Given the description of an element on the screen output the (x, y) to click on. 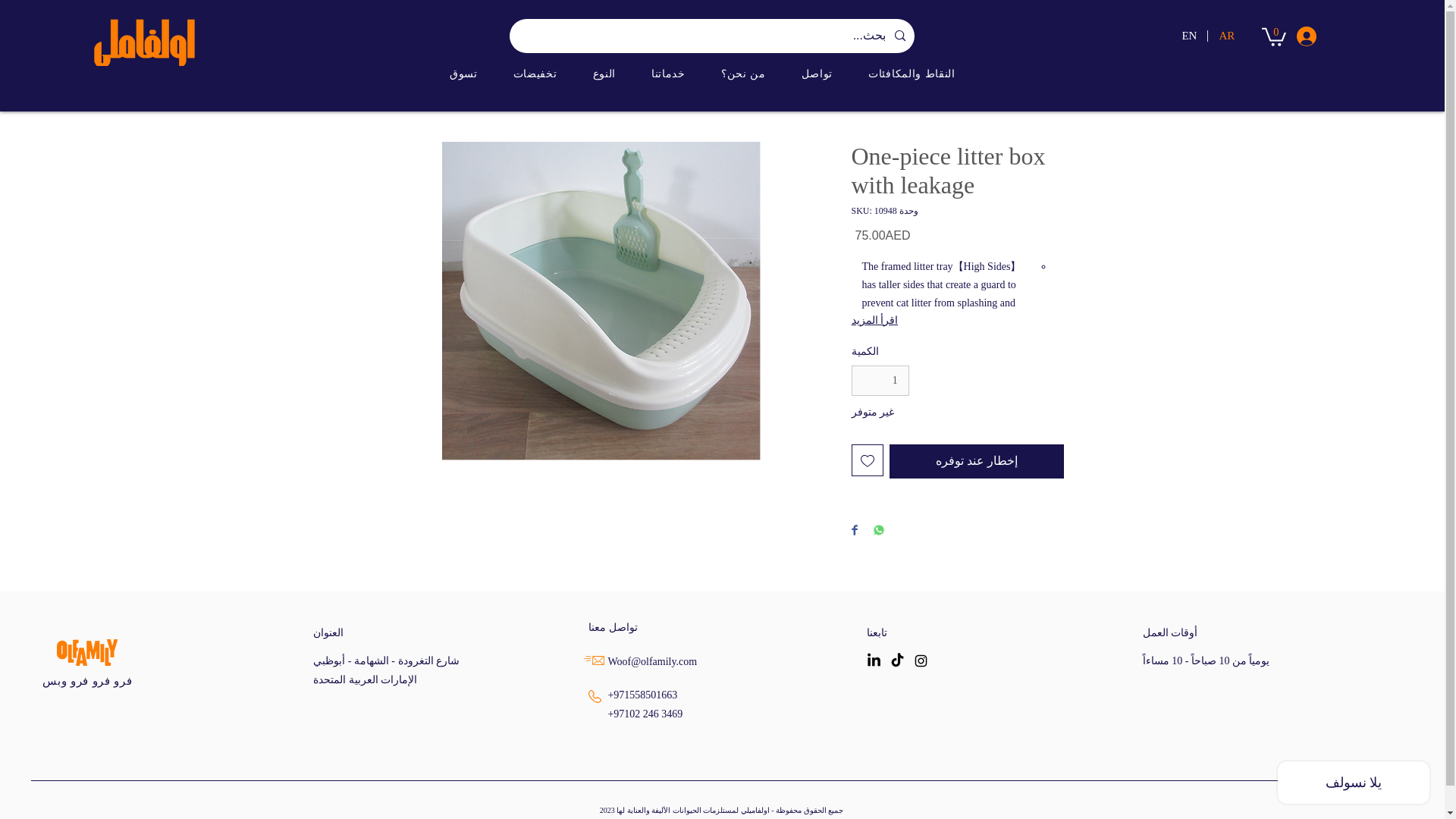
EN (1188, 35)
1 (879, 380)
0 (1273, 35)
AR (1225, 35)
0 (1273, 35)
